Given the description of an element on the screen output the (x, y) to click on. 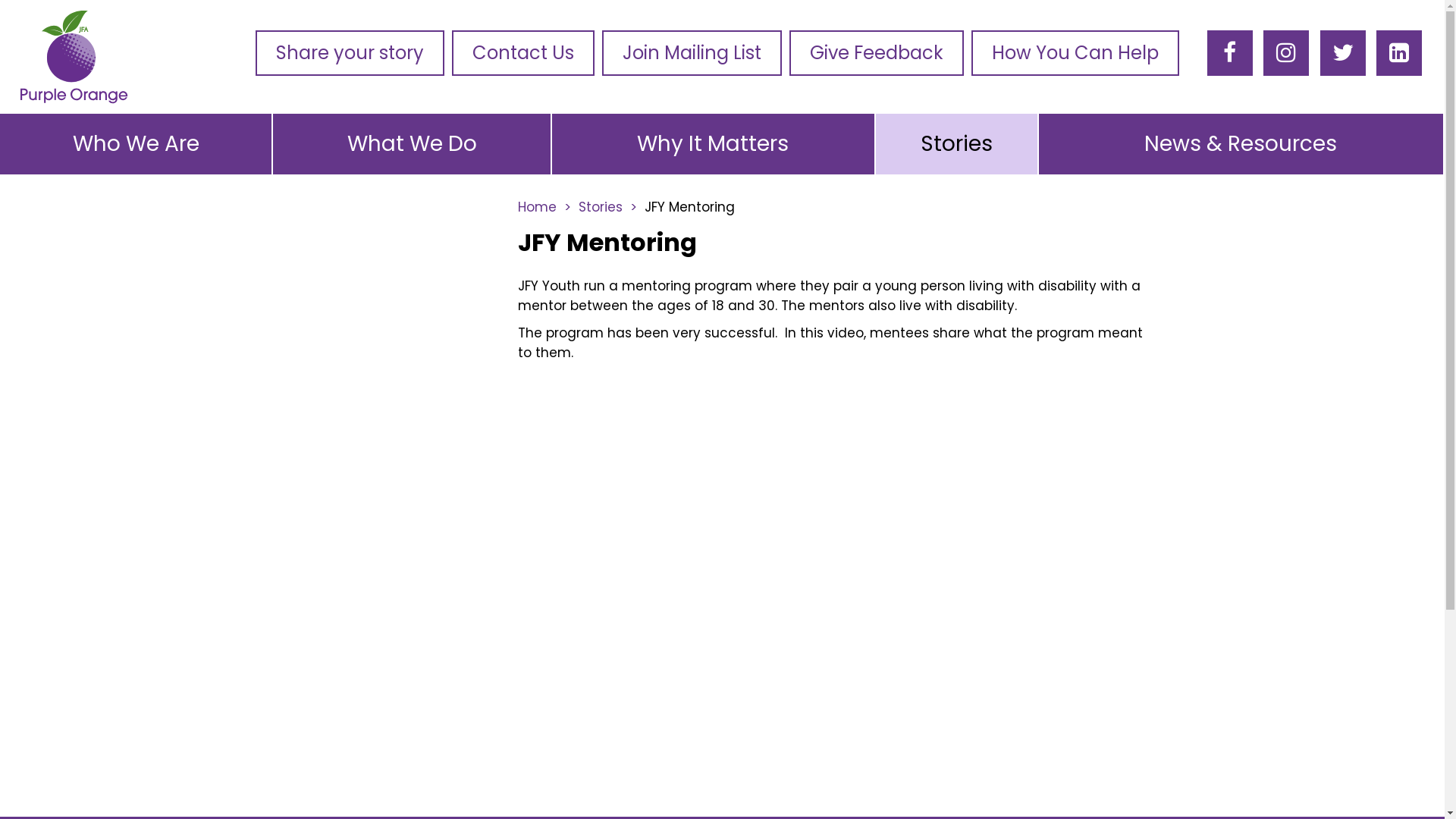
Facebook Element type: hover (1229, 51)
Twitter Element type: hover (1342, 51)
News & Resources Element type: text (1240, 143)
Give Feedback Element type: text (876, 52)
Stories Element type: text (606, 206)
Instagram Element type: hover (1285, 51)
Stories Element type: text (956, 143)
How You Can Help Element type: text (1075, 52)
LinkedIn Element type: hover (1398, 51)
Share your story Element type: text (349, 52)
Home Element type: text (543, 206)
Skip to Content (Press Enter) Element type: text (455, 14)
Who We Are Element type: text (135, 143)
Purple Orange Element type: text (73, 57)
What We Do Element type: text (411, 143)
Contact Us Element type: text (522, 52)
Join Mailing List Element type: text (691, 52)
Why It Matters Element type: text (712, 143)
